Given the description of an element on the screen output the (x, y) to click on. 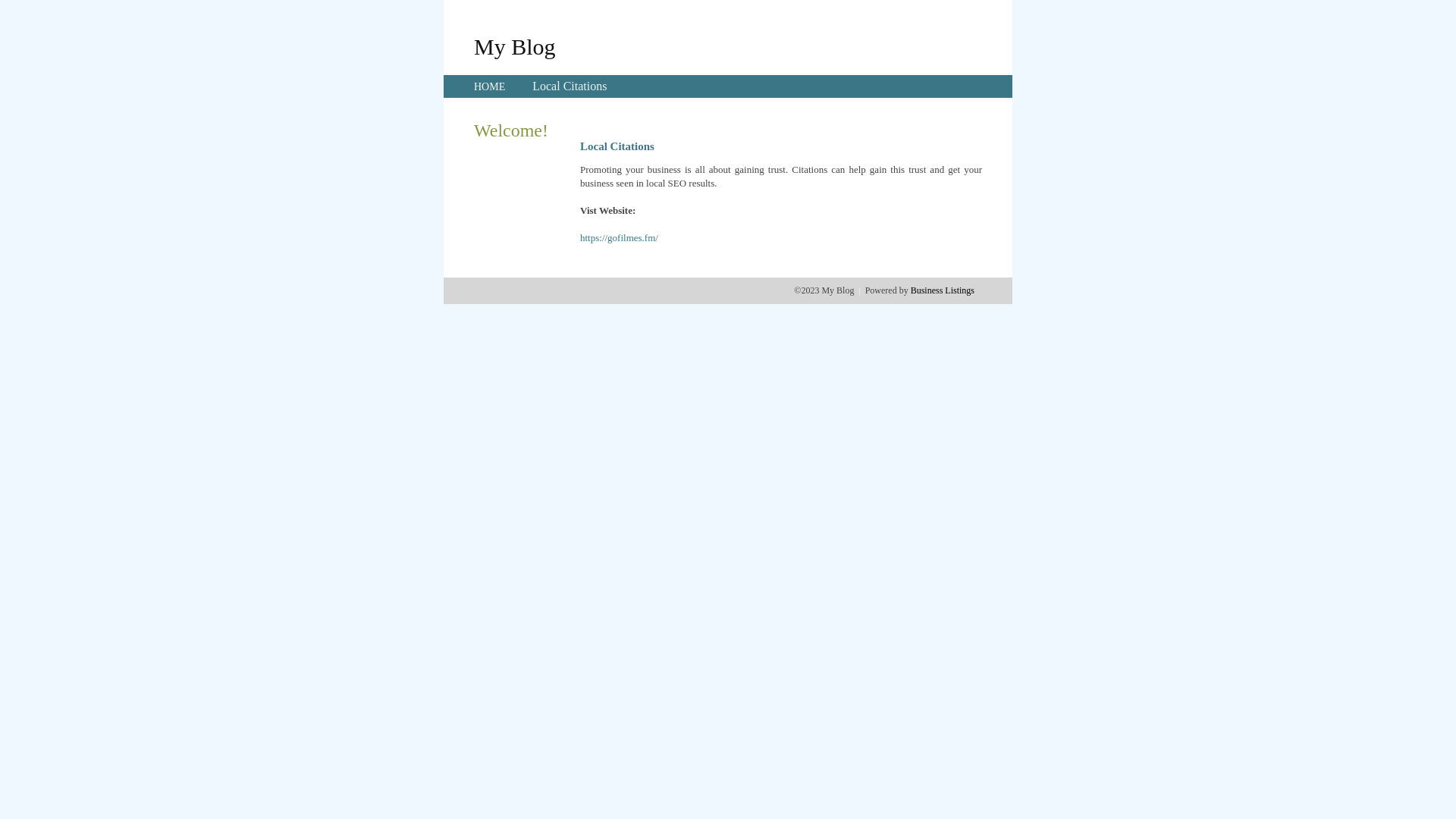
HOME Element type: text (489, 86)
Local Citations Element type: text (569, 85)
Business Listings Element type: text (942, 290)
https://gofilmes.fm/ Element type: text (619, 237)
My Blog Element type: text (514, 46)
